Given the description of an element on the screen output the (x, y) to click on. 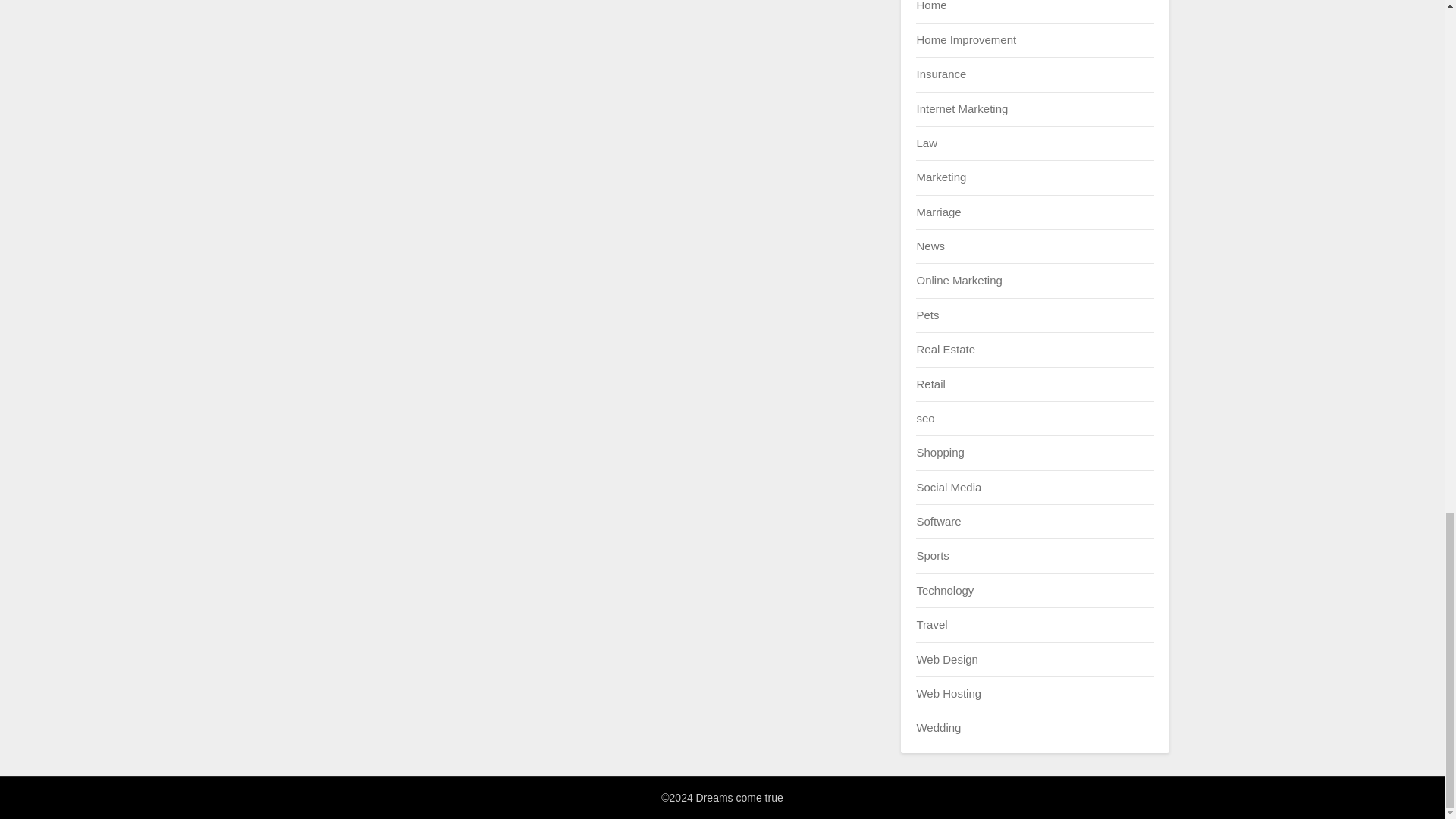
Marketing (940, 176)
Internet Marketing (961, 108)
News (929, 245)
Insurance (940, 73)
Home Improvement (965, 39)
Marriage (937, 211)
Law (926, 142)
Home (930, 5)
